Given the description of an element on the screen output the (x, y) to click on. 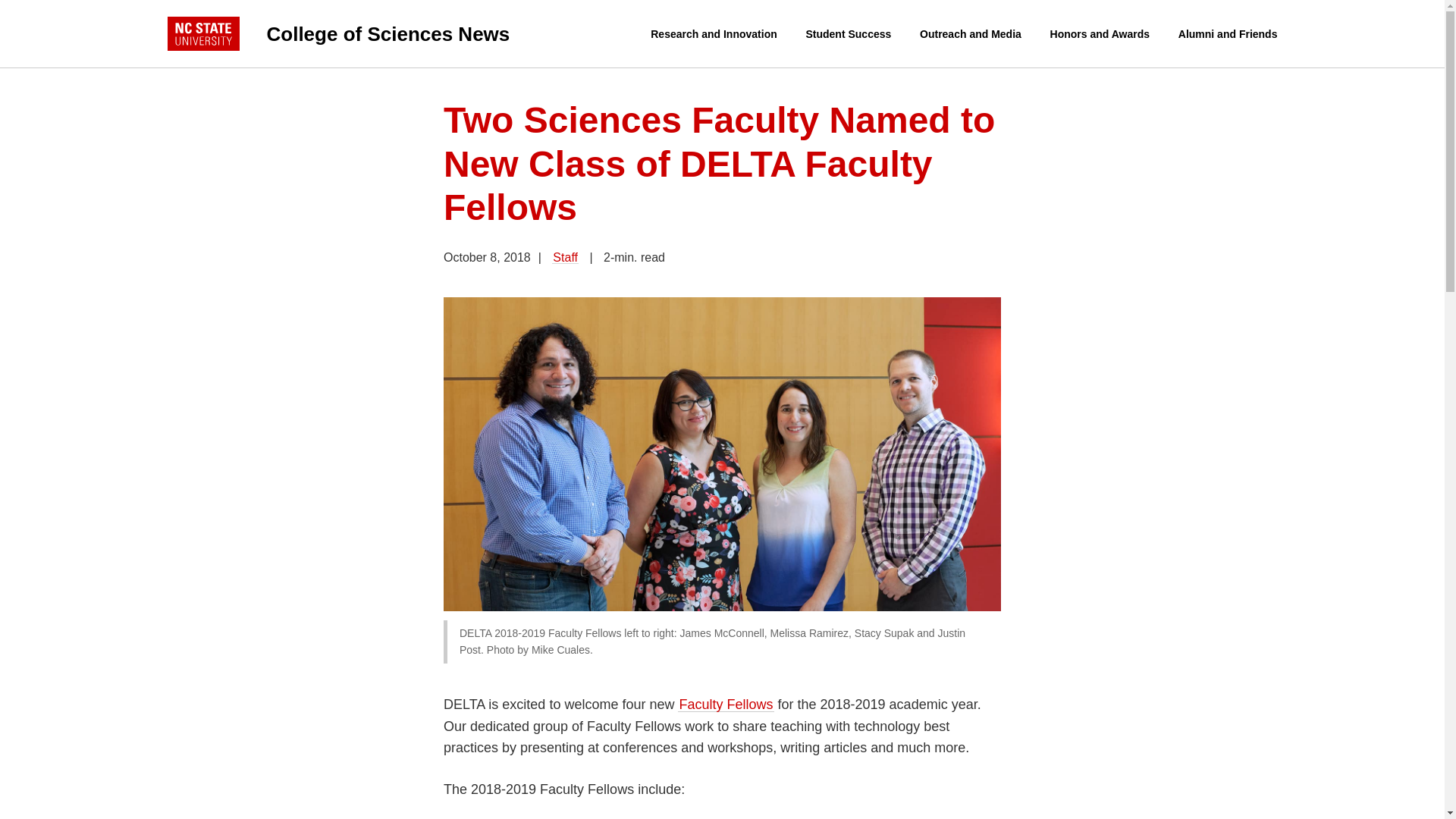
Alumni and Friends (1228, 34)
Posts by Staff (564, 256)
Research and Innovation (713, 34)
College of Sciences News (408, 33)
Outreach and Media (969, 34)
Student Success (847, 34)
Honors and Awards (1099, 34)
